Given the description of an element on the screen output the (x, y) to click on. 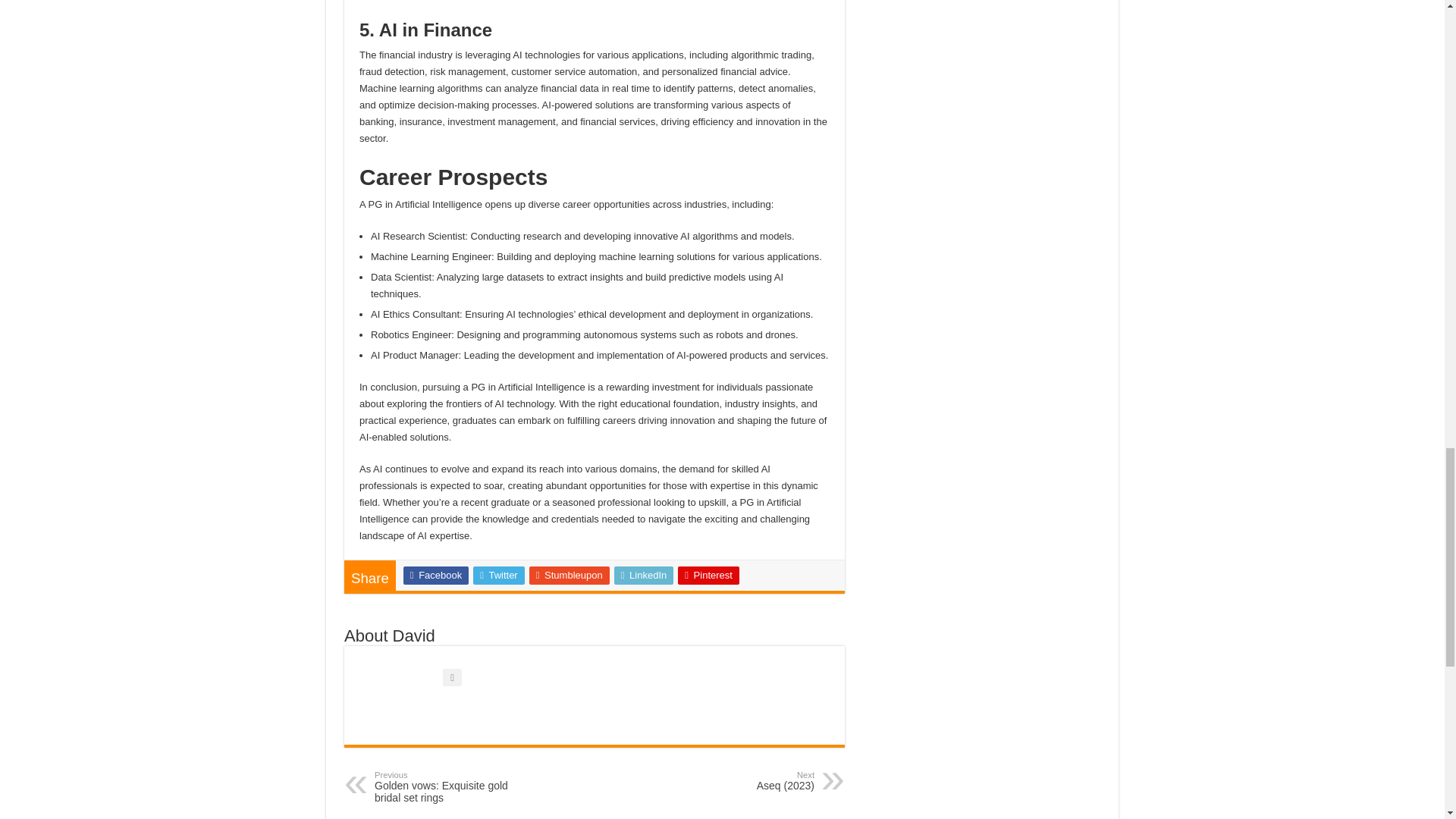
Facebook (435, 575)
Stumbleupon (451, 786)
Pinterest (569, 575)
LinkedIn (708, 575)
Twitter (644, 575)
